Given the description of an element on the screen output the (x, y) to click on. 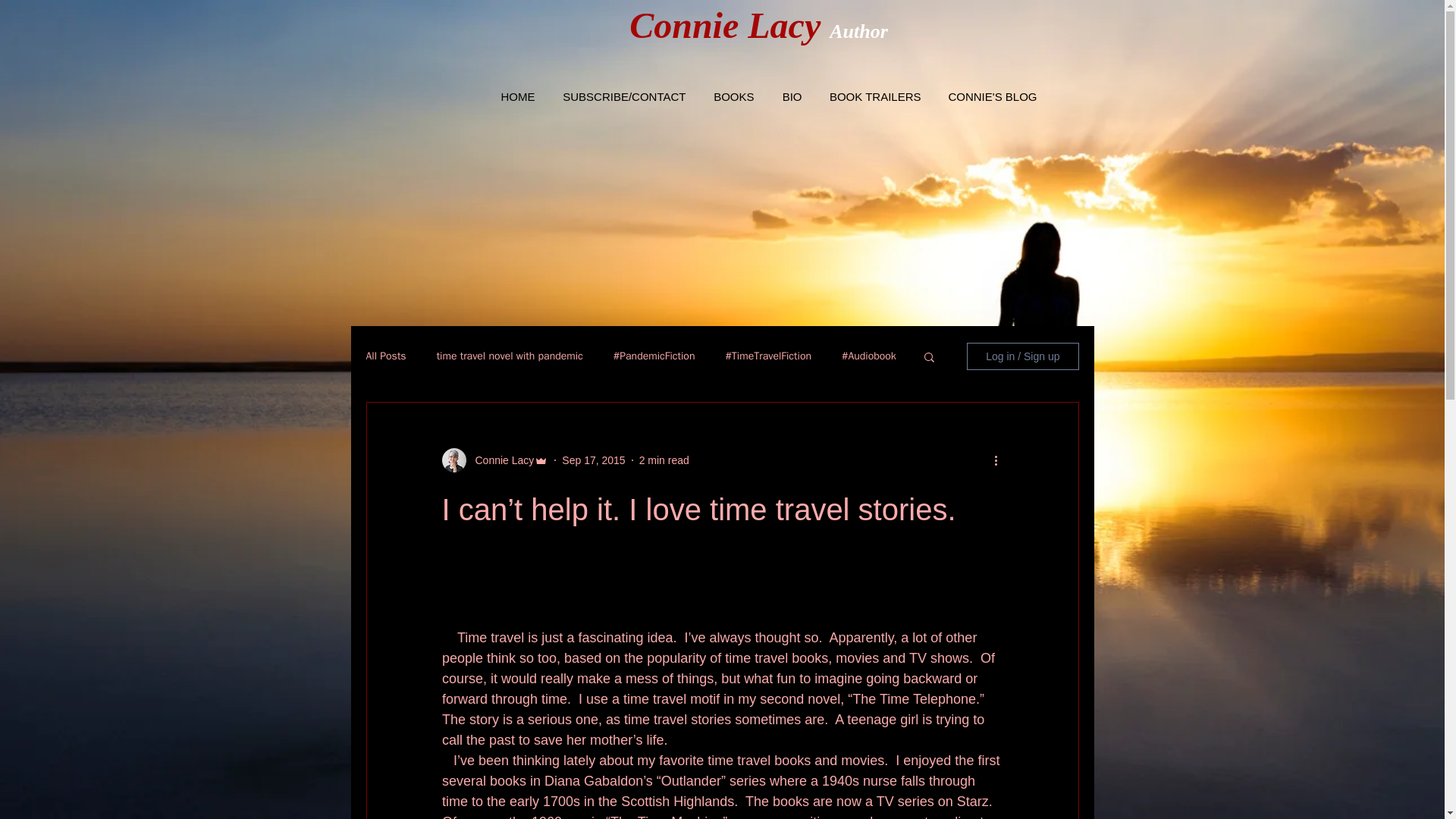
Sep 17, 2015 (593, 459)
All Posts (385, 356)
BIO (786, 96)
BOOK TRAILERS (868, 96)
CONNIE'S BLOG (987, 96)
time travel novel with pandemic (509, 356)
2 min read (663, 459)
HOME (511, 96)
BOOKS (728, 96)
Connie Lacy (499, 459)
